Given the description of an element on the screen output the (x, y) to click on. 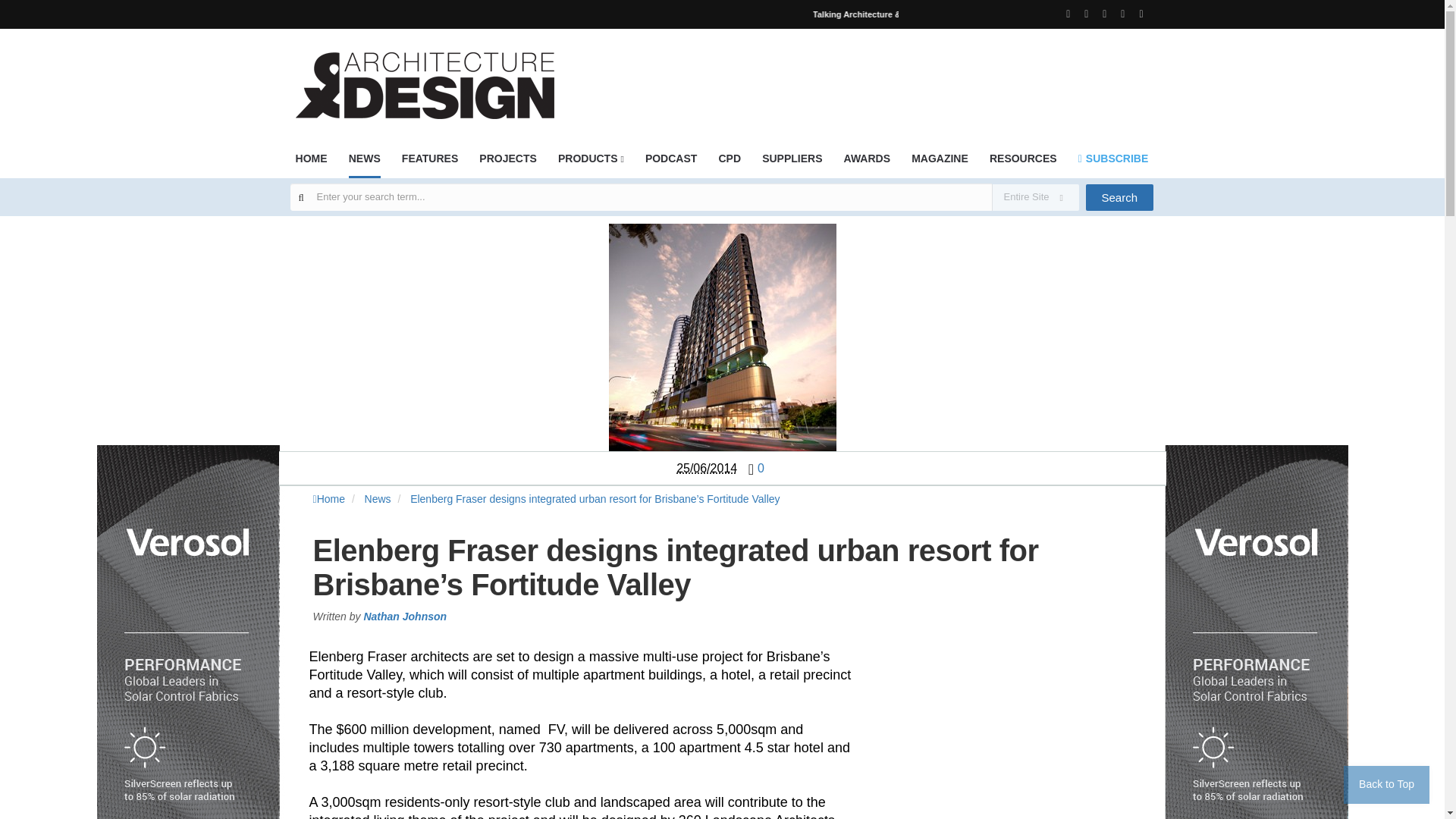
PROJECTS (507, 163)
PRODUCTS (590, 163)
3rd party ad content (1011, 740)
NEWS (364, 164)
2014-06-24T23:30:31Z (706, 468)
FEATURES (429, 163)
3rd party ad content (876, 75)
HOME (311, 163)
